Given the description of an element on the screen output the (x, y) to click on. 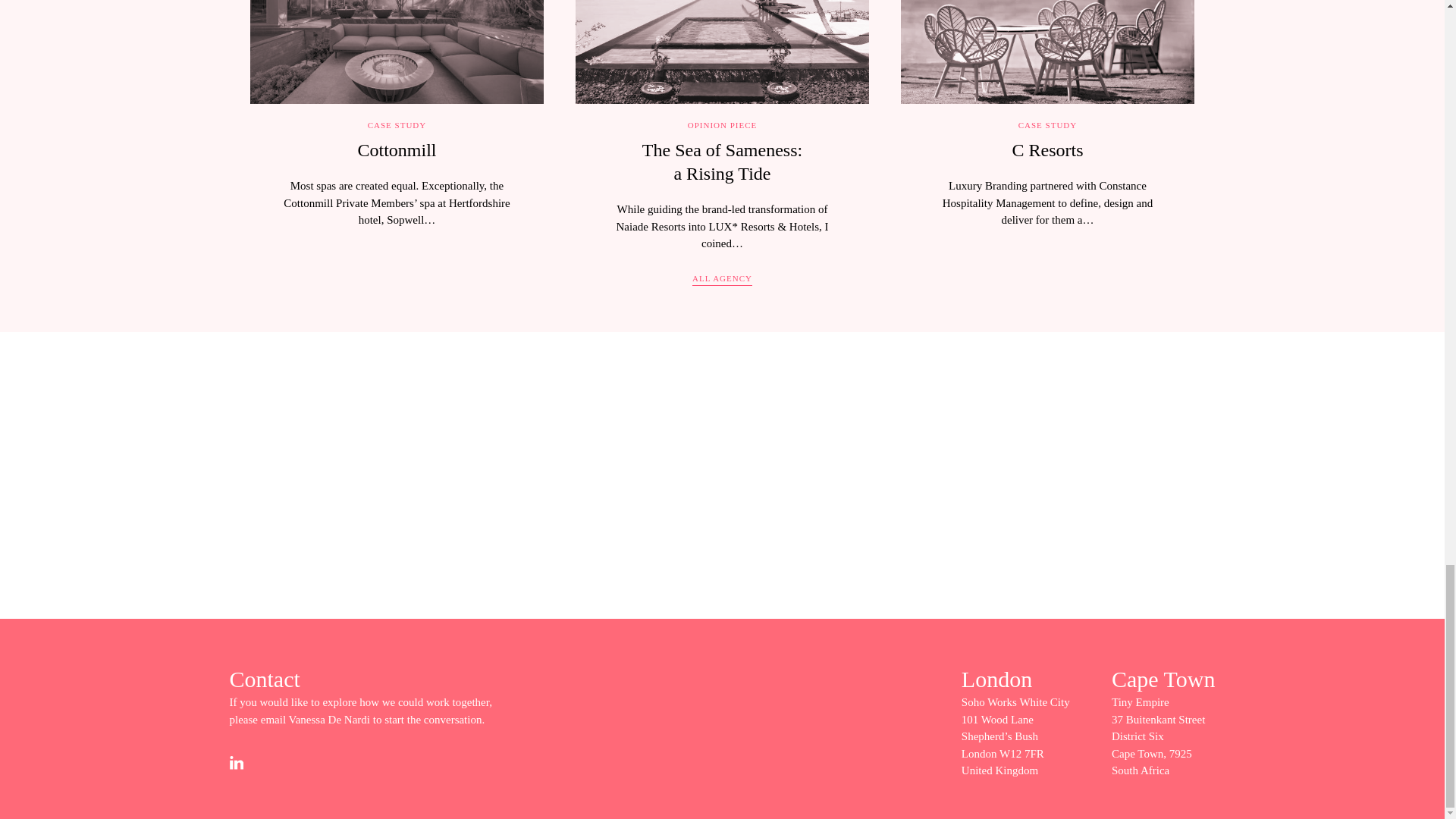
C Resorts (722, 161)
Cottonmill (1047, 149)
